Given the description of an element on the screen output the (x, y) to click on. 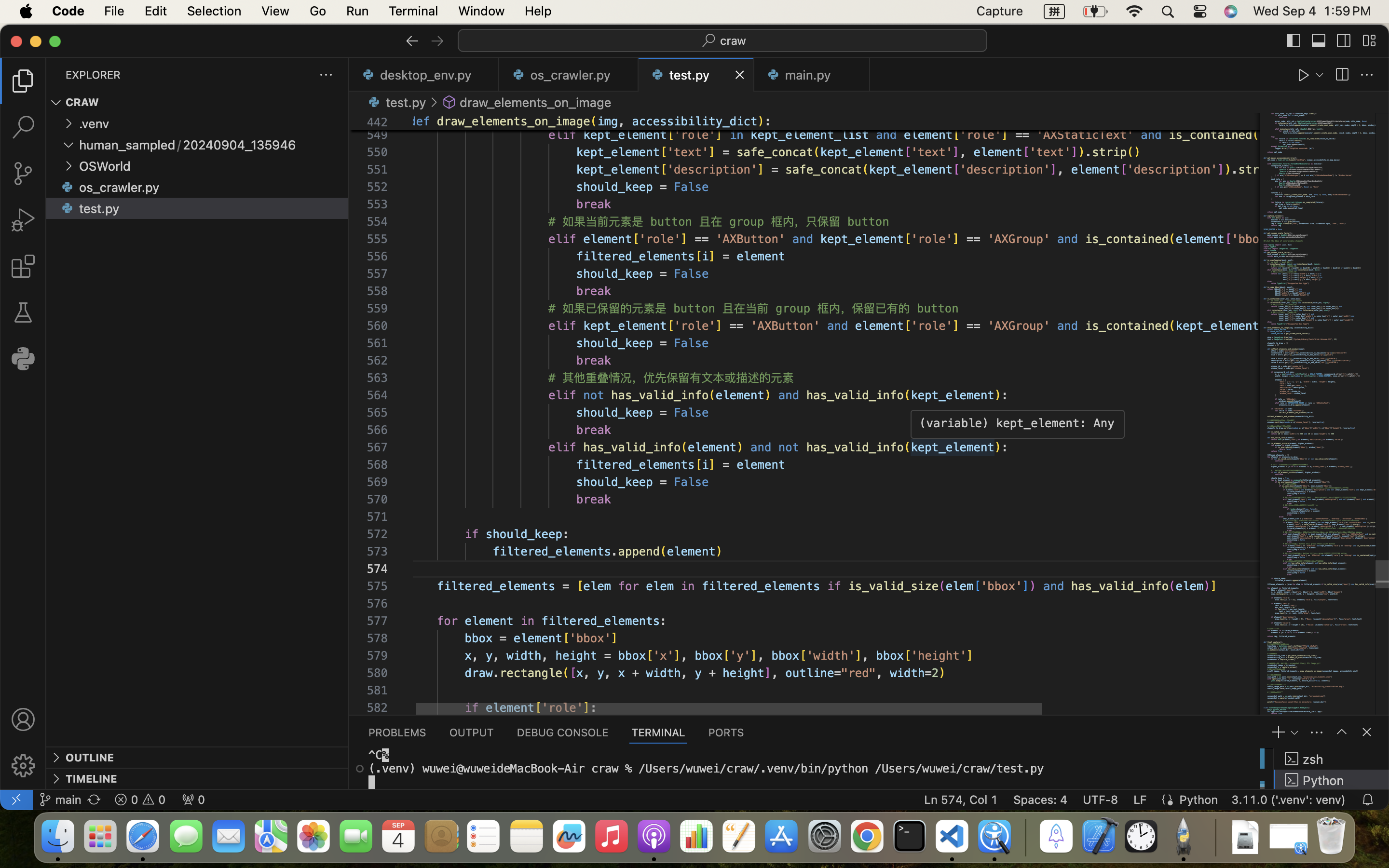
0 desktop_env.py   Element type: AXRadioButton (424, 74)
 Element type: AXButton (1369, 40)
 Element type: AXButton (412, 40)
.venv Element type: AXStaticText (94, 123)
0  Element type: AXRadioButton (23, 312)
